Given the description of an element on the screen output the (x, y) to click on. 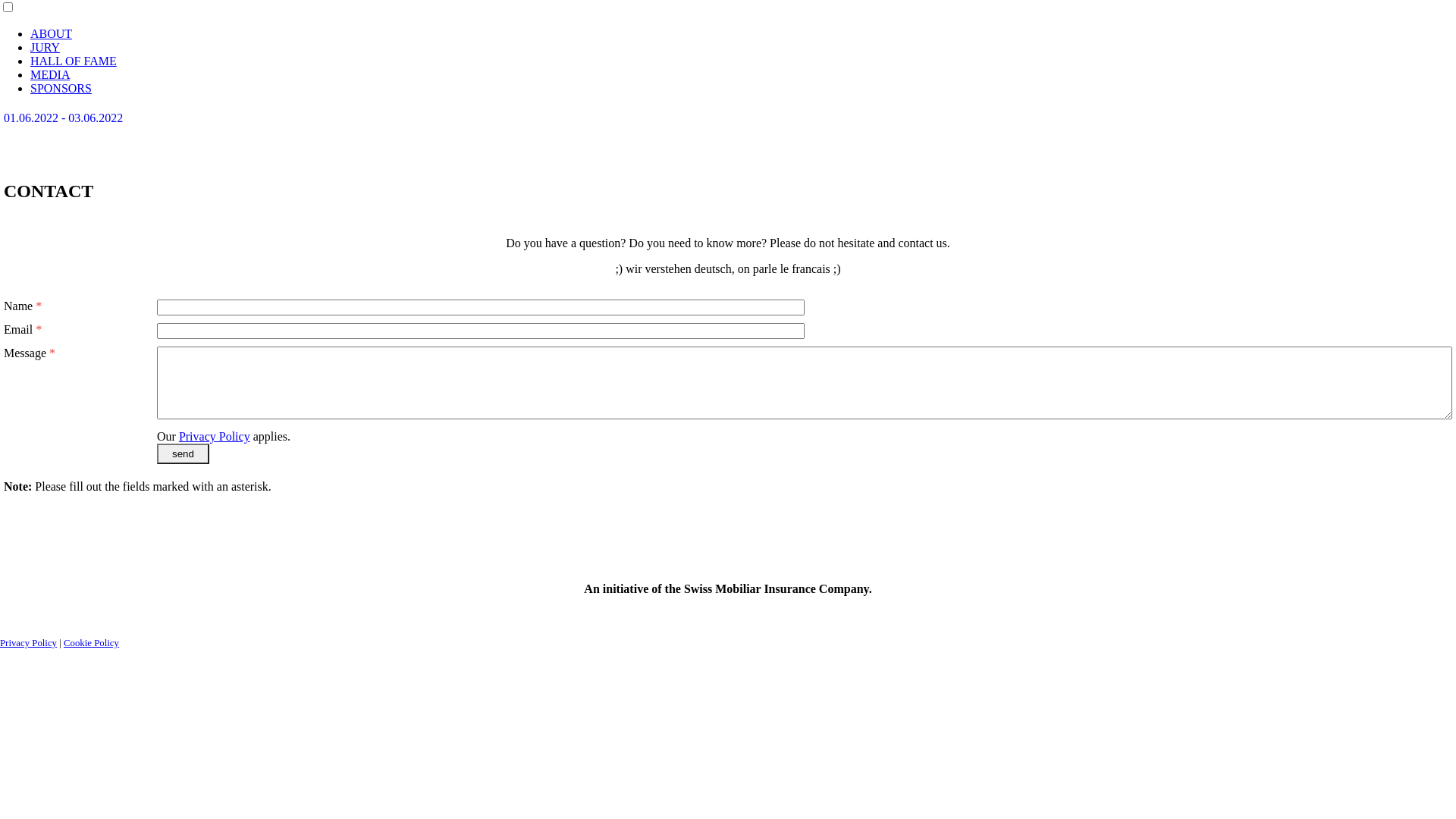
01.06.2022 - 03.06.2022 Element type: text (727, 118)
Privacy Policy Element type: text (214, 435)
JURY Element type: text (44, 46)
send Element type: text (182, 453)
ABOUT Element type: text (51, 33)
Cookie Policy Element type: text (91, 642)
SPONSORS Element type: text (60, 87)
HALL OF FAME Element type: text (73, 60)
MEDIA Element type: text (49, 74)
Privacy Policy Element type: text (28, 642)
